Given the description of an element on the screen output the (x, y) to click on. 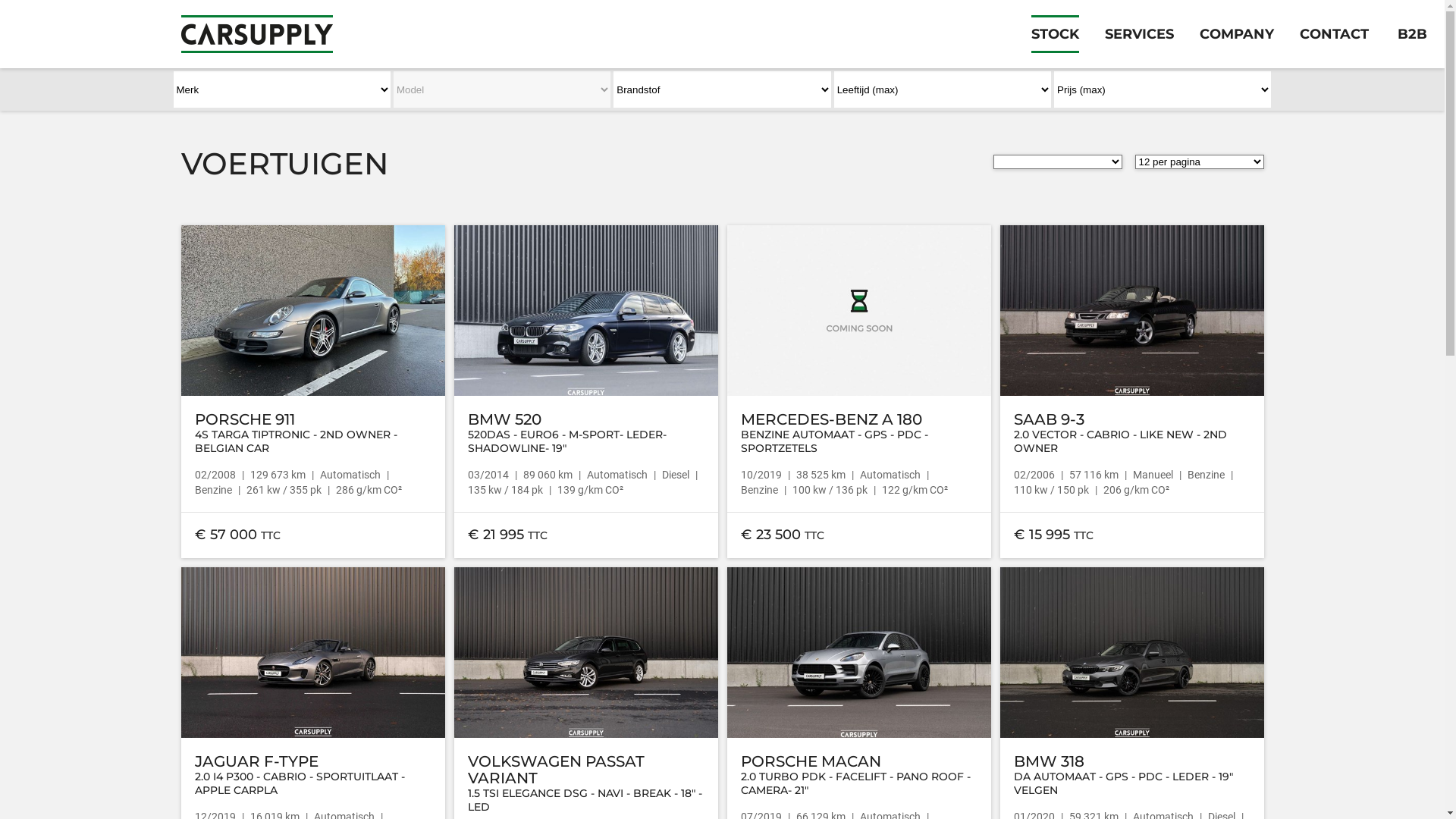
Porsche 911 Element type: hover (312, 310)
CONTACT Element type: text (1333, 34)
SERVICES Element type: text (1138, 34)
BMW 520 Element type: hover (585, 310)
COMPANY Element type: text (1236, 34)
B2B Element type: text (1412, 34)
BMW 318 Element type: hover (1131, 652)
CarSupply Element type: hover (256, 26)
STOCK Element type: text (1055, 34)
Mercedes-Benz A 180 Element type: hover (858, 310)
Saab 9-3 Element type: hover (1131, 310)
Volkswagen Passat Variant Element type: hover (585, 652)
Porsche Macan Element type: hover (858, 652)
Jaguar F-Type Element type: hover (312, 652)
